Given the description of an element on the screen output the (x, y) to click on. 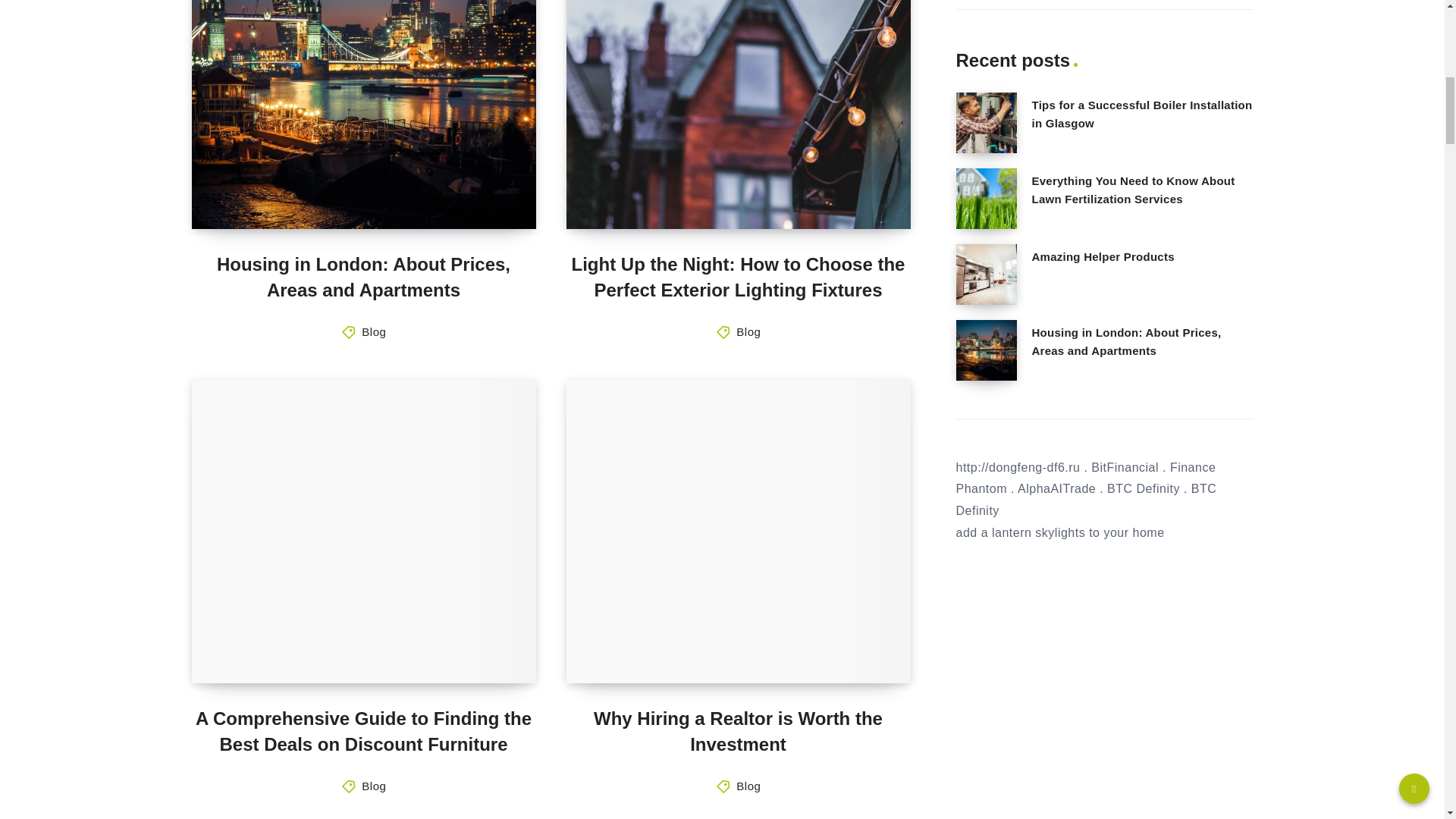
Housing in London: About Prices, Areas and Apartments (363, 276)
